Given the description of an element on the screen output the (x, y) to click on. 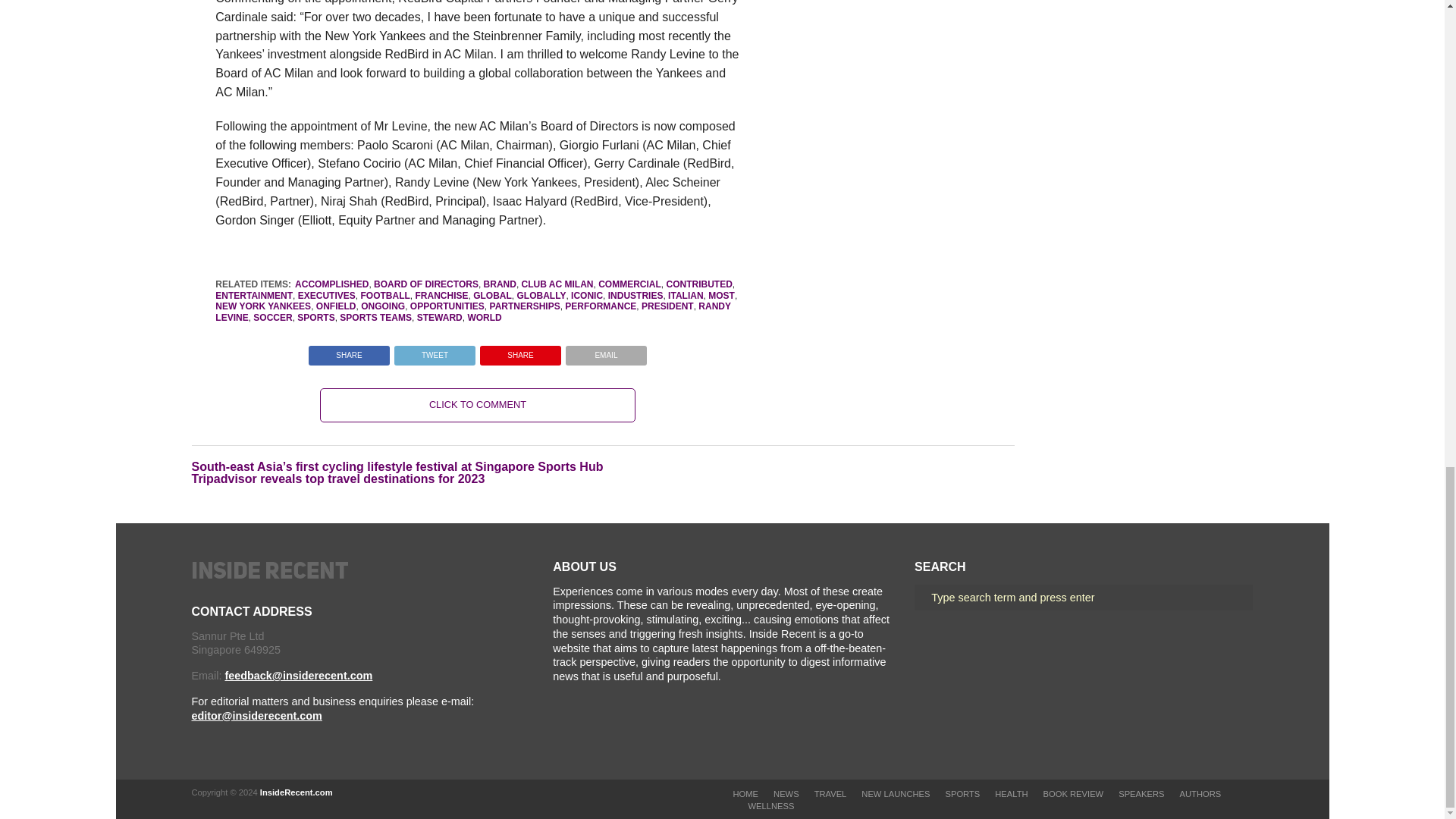
Type search term and press enter (1083, 597)
Share on Facebook (349, 350)
BOARD OF DIRECTORS (426, 284)
ENTERTAINMENT (253, 295)
Pin This Post (520, 350)
EXECUTIVES (326, 295)
Tweet This Post (434, 350)
COMMERCIAL (629, 284)
BRAND (499, 284)
CLUB AC MILAN (557, 284)
ACCOMPLISHED (331, 284)
CONTRIBUTED (698, 284)
